Given the description of an element on the screen output the (x, y) to click on. 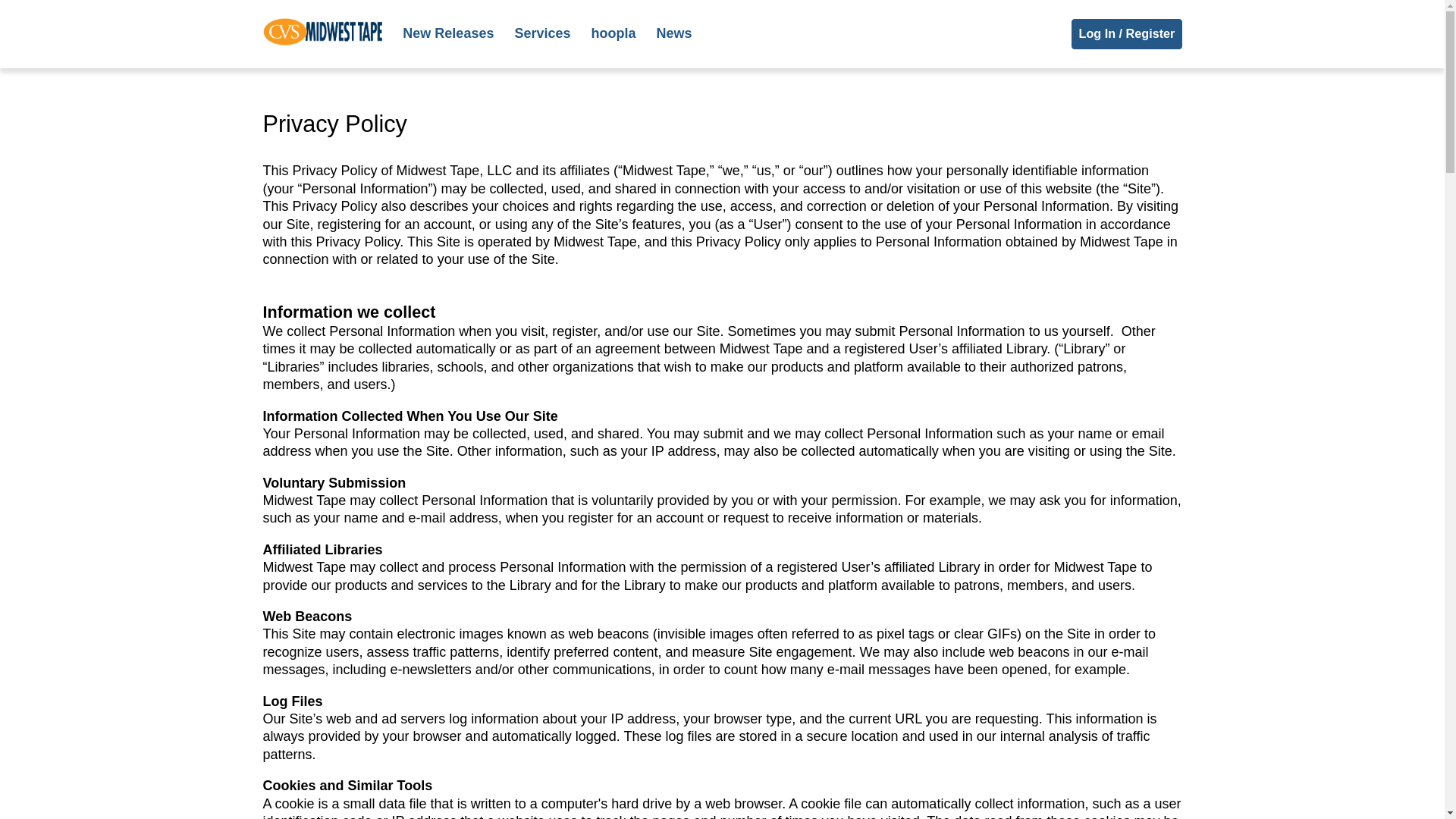
Services (552, 33)
hoopla (623, 33)
New Releases (458, 33)
News (684, 33)
